Given the description of an element on the screen output the (x, y) to click on. 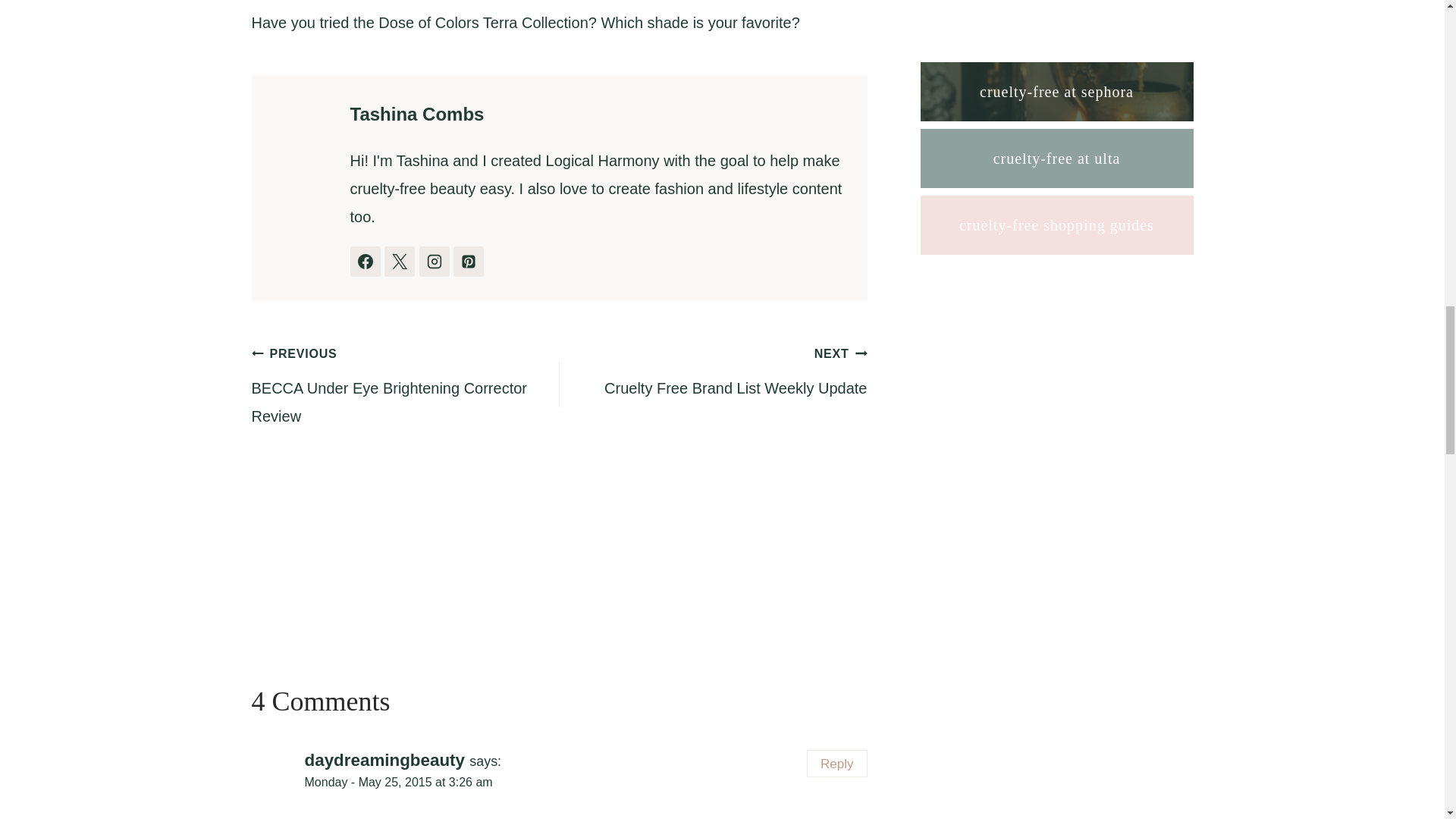
Follow Tashina Combs on Instagram (434, 261)
Follow Tashina Combs on Facebook (365, 261)
Follow Tashina Combs on X formerly Twitter (399, 261)
Follow Tashina Combs on Pinterest (467, 261)
